Given the description of an element on the screen output the (x, y) to click on. 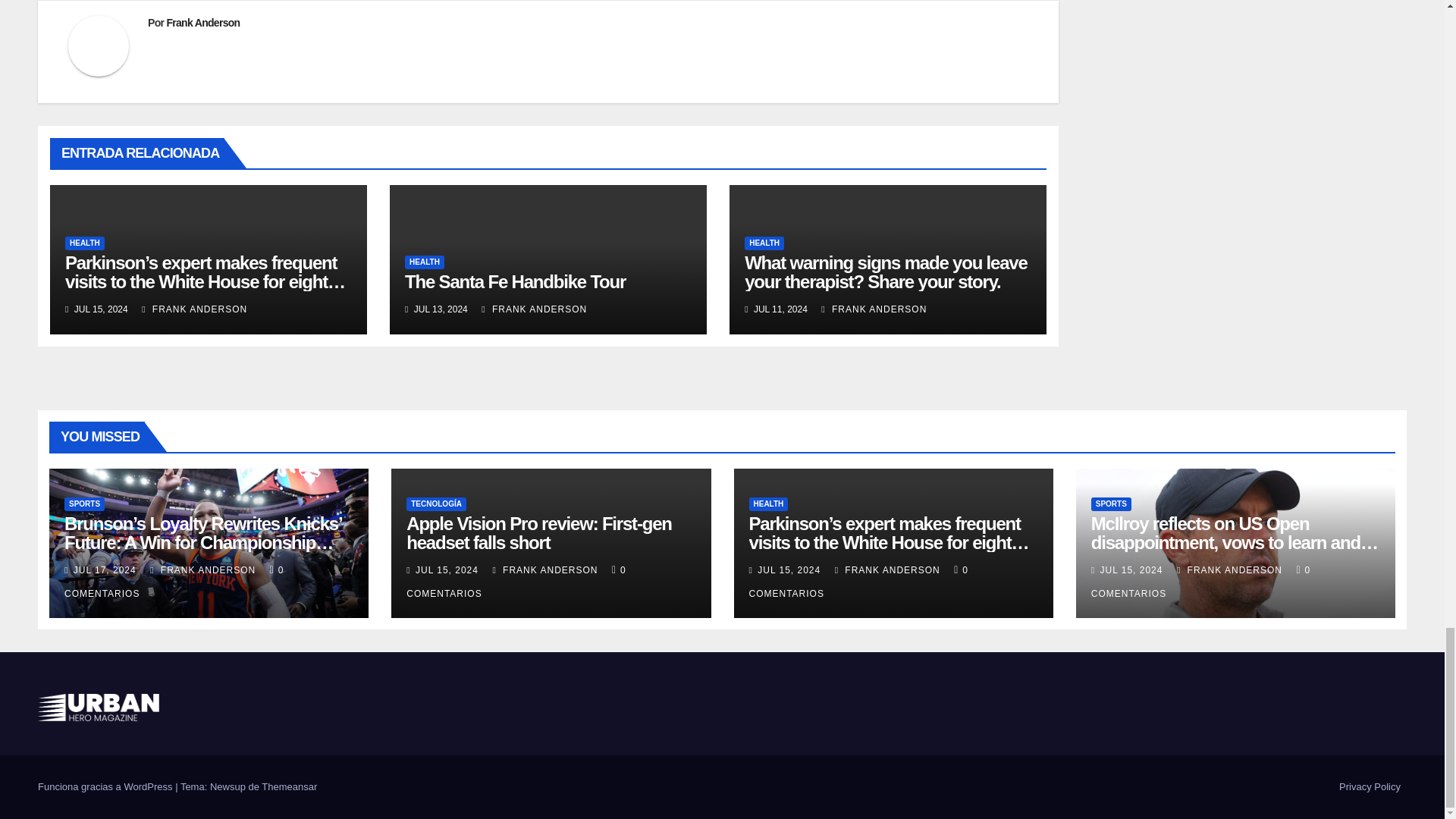
HEALTH (424, 262)
HEALTH (84, 243)
FRANK ANDERSON (194, 308)
Permalink to: The Santa Fe Handbike Tour (515, 281)
HEALTH (764, 243)
The Santa Fe Handbike Tour (515, 281)
FRANK ANDERSON (533, 308)
Privacy Policy (1369, 786)
Frank Anderson (202, 22)
